Given the description of an element on the screen output the (x, y) to click on. 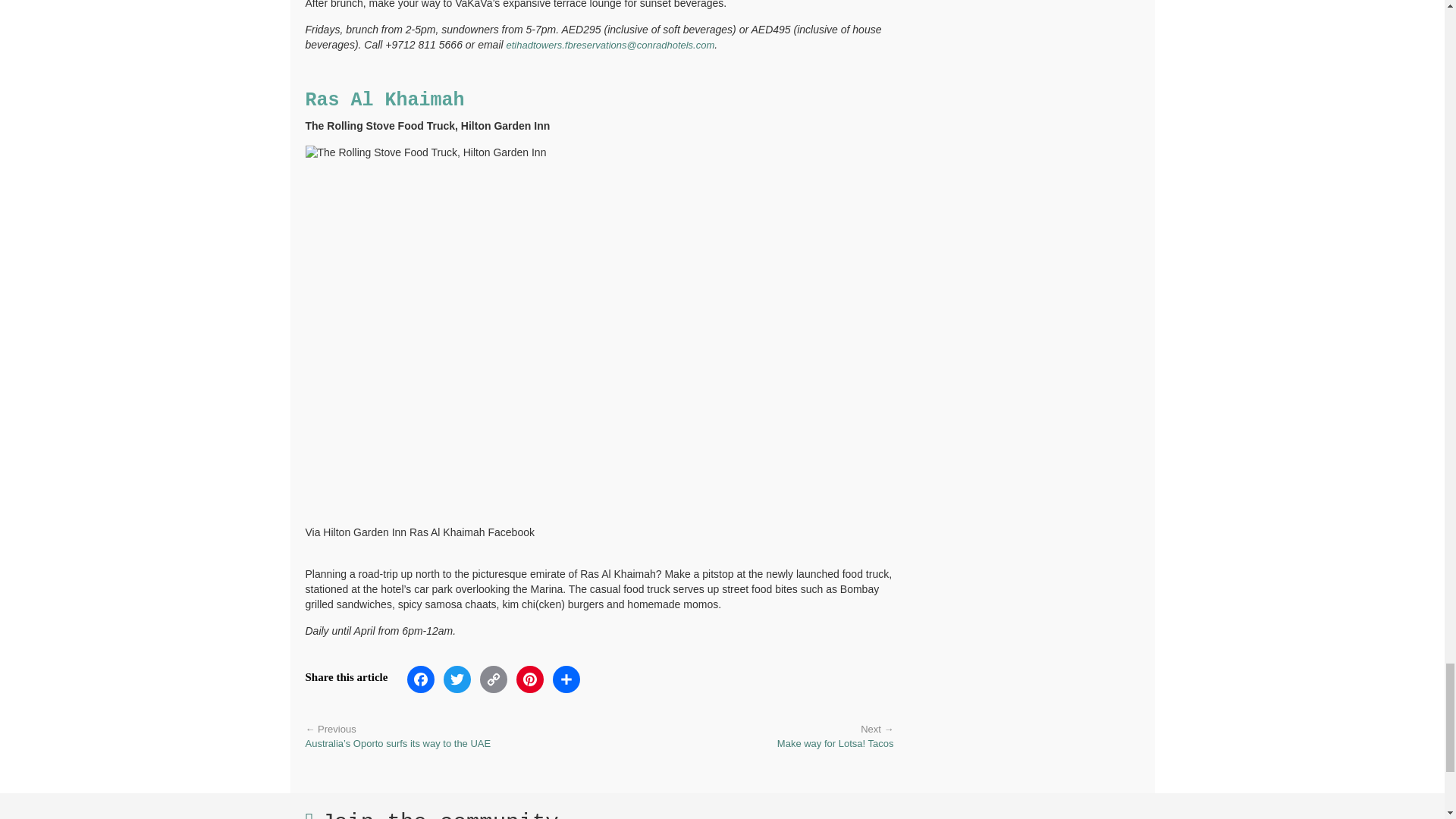
Copy Link (494, 683)
Pinterest (530, 683)
Facebook (421, 683)
Twitter (457, 683)
